Given the description of an element on the screen output the (x, y) to click on. 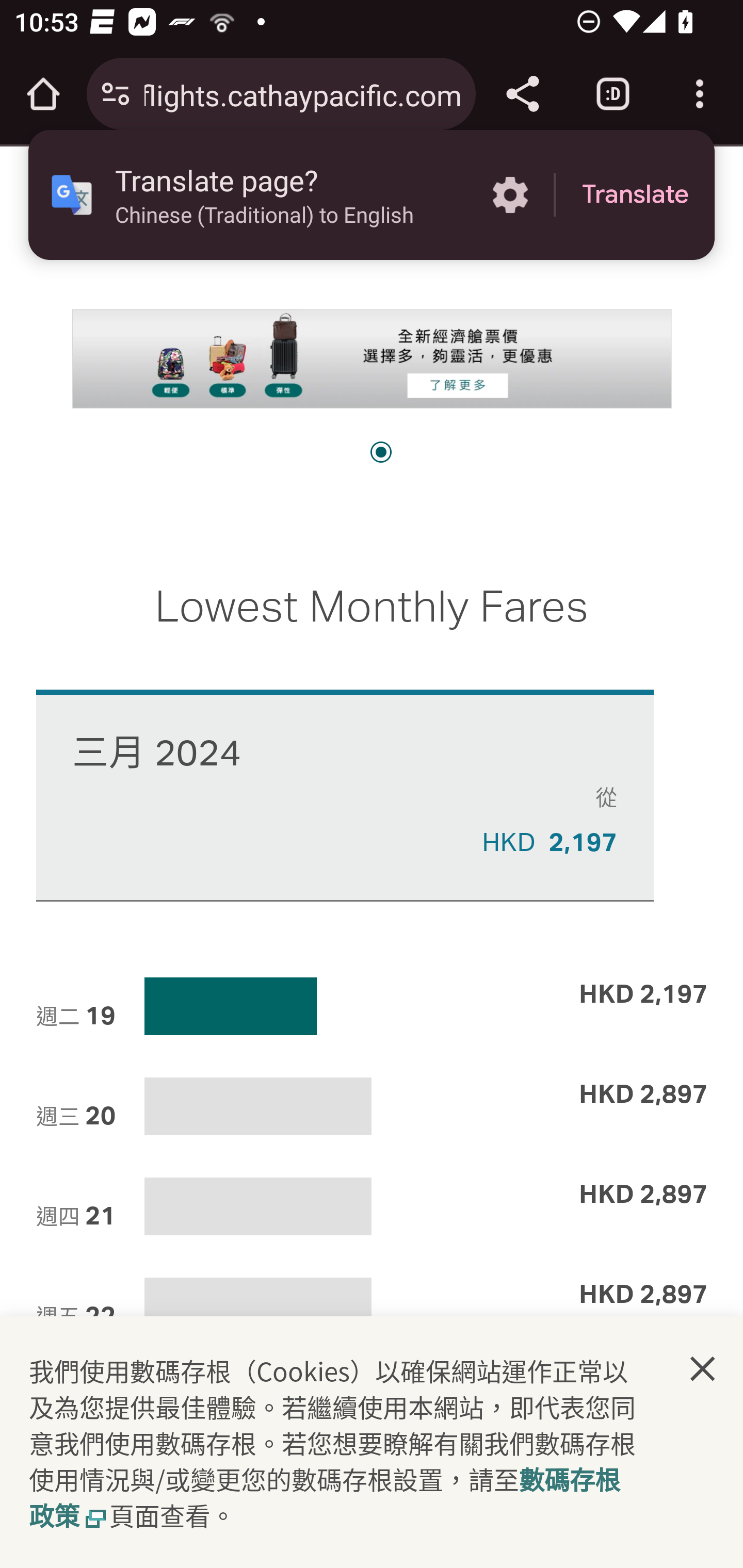
Open the home page (43, 93)
Connection is secure (115, 93)
Share (522, 93)
Switch or close tabs (612, 93)
Customize and control Google Chrome (699, 93)
Translate (634, 195)
More options in the Translate page? (509, 195)
1 of 1 (380, 453)
關閉 (702, 1368)
數碼存根政策, 在新窗口中打开 數碼存根政策 (324, 1497)
